Given the description of an element on the screen output the (x, y) to click on. 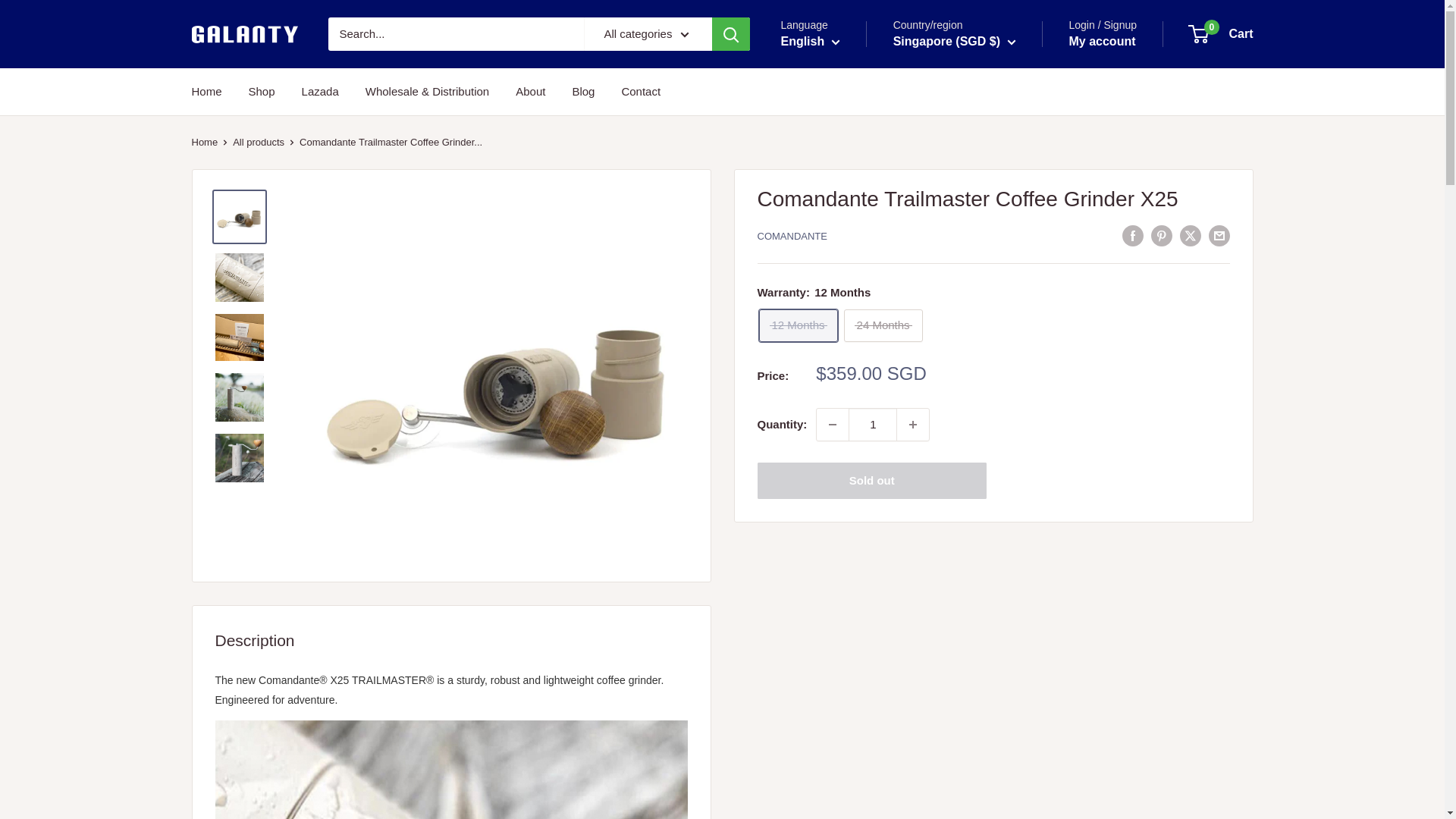
Hadler Shop (243, 34)
AR (894, 265)
AU (894, 353)
Increase quantity by 1 (912, 424)
12 Months (797, 325)
BH (894, 440)
DZ (894, 156)
BS (894, 418)
zh-CN (821, 102)
AL (894, 134)
24 Months (883, 325)
AG (894, 242)
AZ (894, 396)
AF (894, 90)
BY (894, 506)
